Given the description of an element on the screen output the (x, y) to click on. 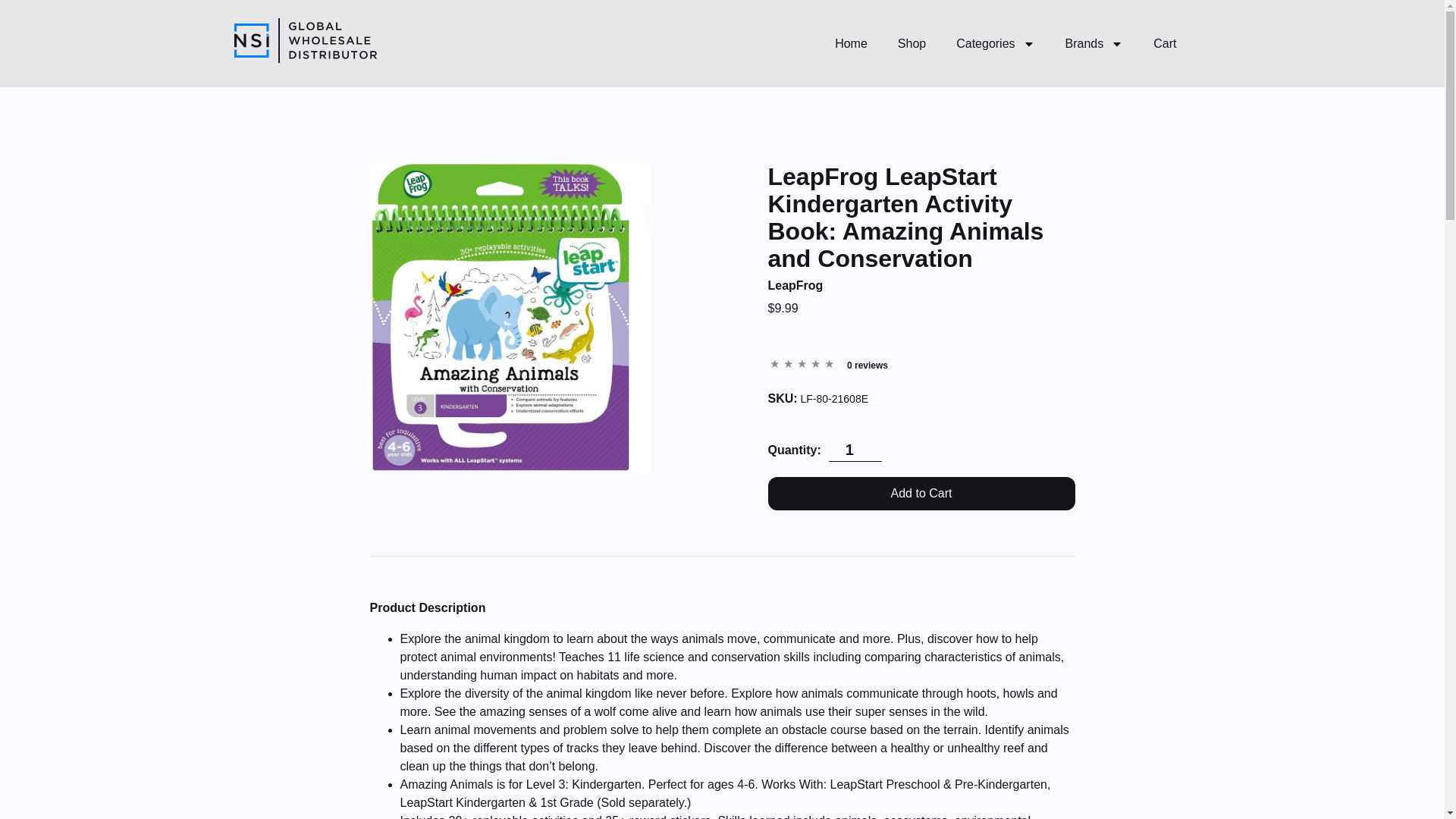
Shop (911, 43)
Categories (994, 43)
Home (850, 43)
Brands (1093, 43)
1 (855, 449)
Cart (1173, 43)
